Given the description of an element on the screen output the (x, y) to click on. 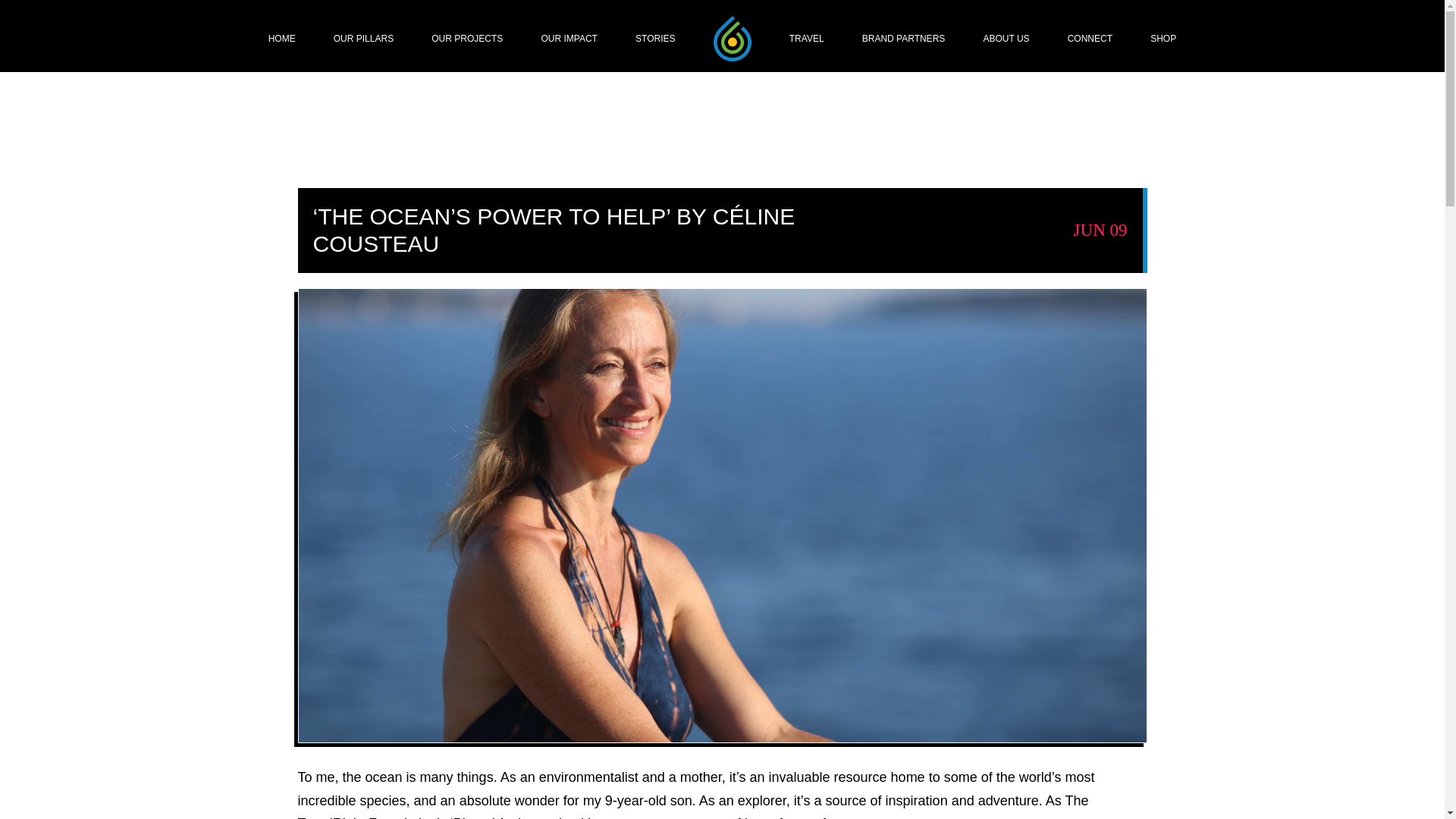
OUR PROJECTS (466, 38)
SHOP (1163, 38)
STORIES (654, 38)
JUN 09 (1100, 229)
BRAND PARTNERS (902, 38)
OUR IMPACT (568, 38)
CONNECT (1089, 38)
HOME (281, 38)
ABOUT US (1005, 38)
TRAVEL (806, 38)
OUR PILLARS (363, 38)
